Given the description of an element on the screen output the (x, y) to click on. 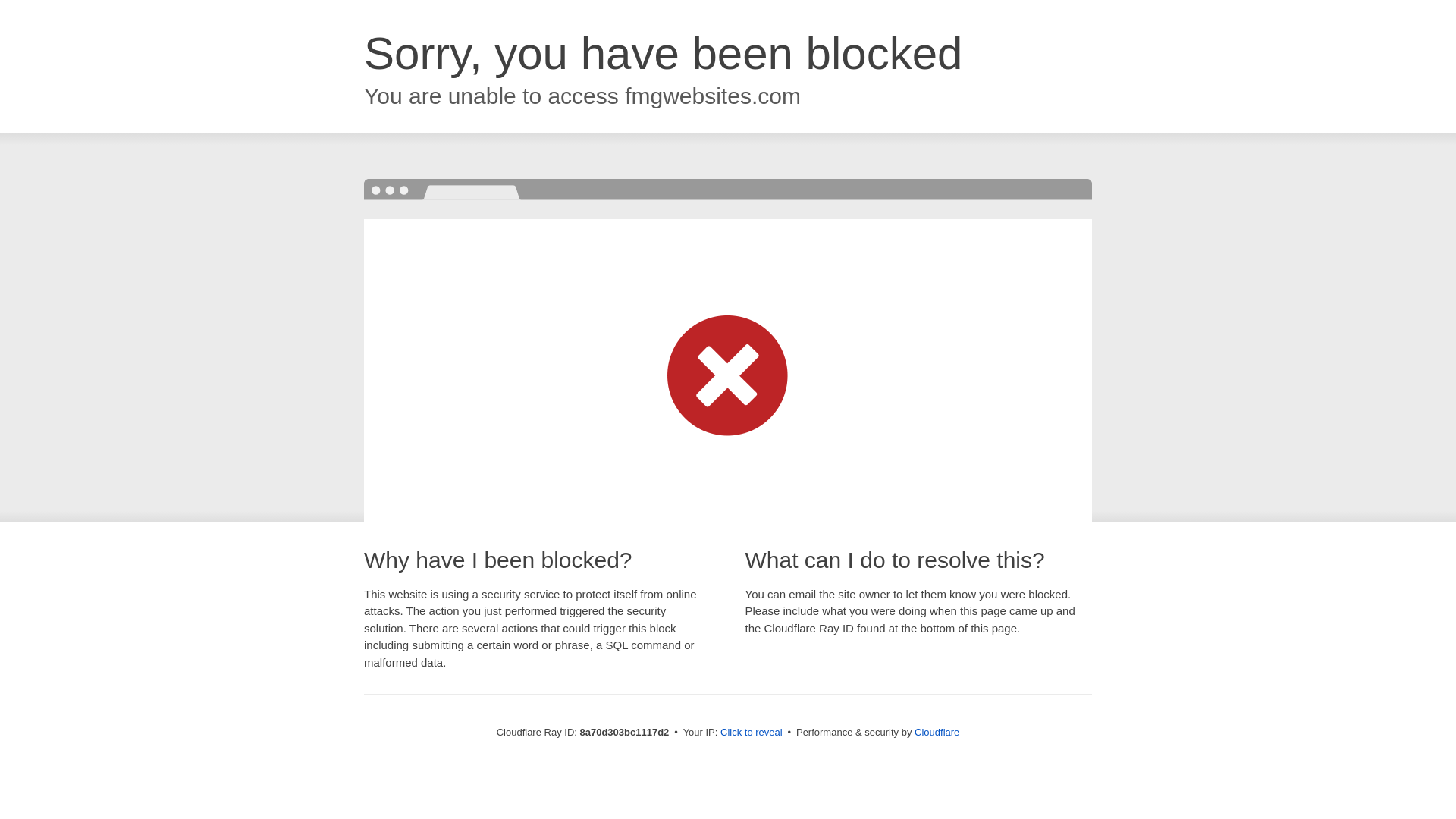
Click to reveal (751, 732)
Cloudflare (936, 731)
